Given the description of an element on the screen output the (x, y) to click on. 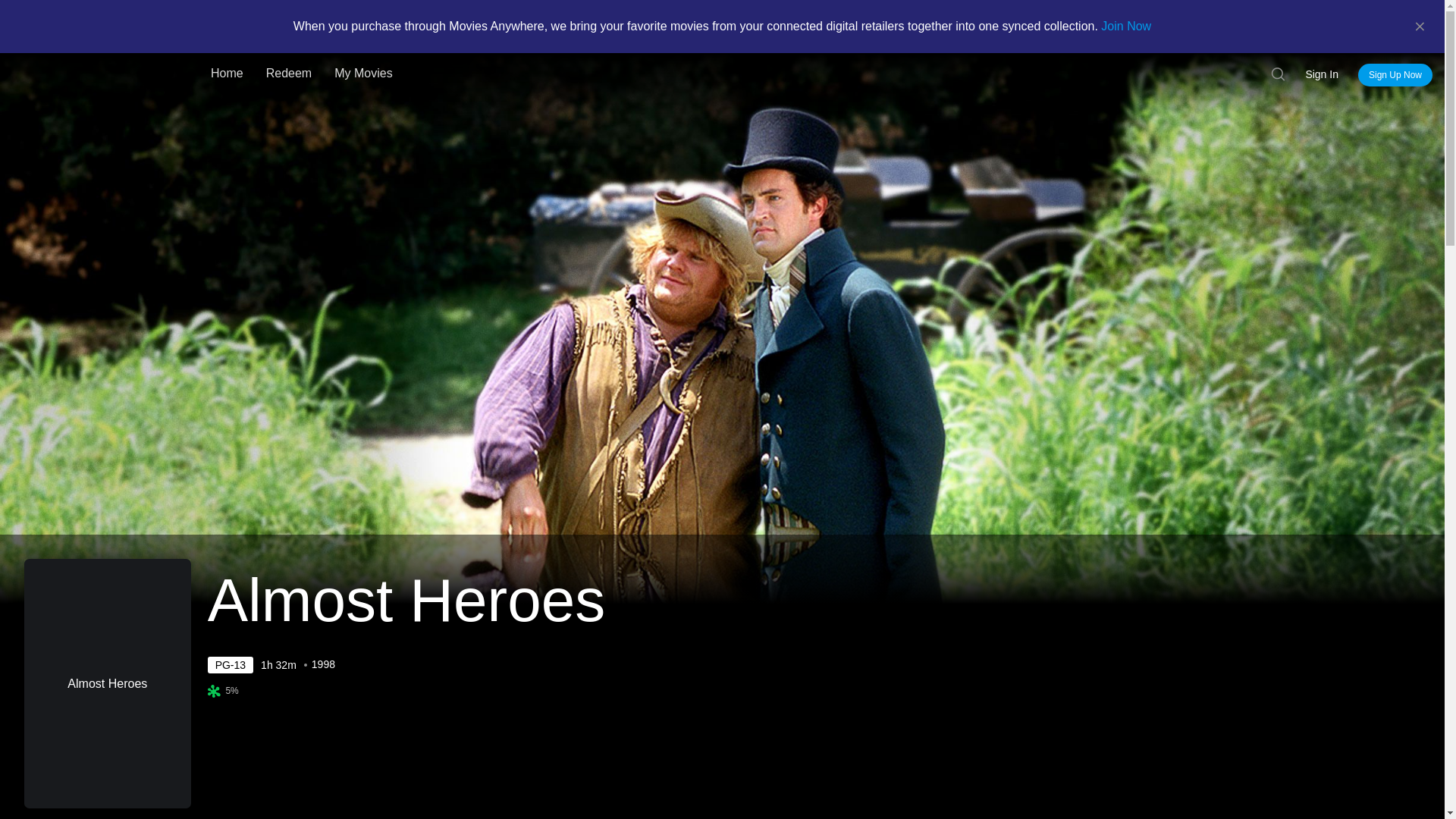
Sign In (1321, 73)
My Movies (363, 74)
Home (226, 74)
Sign Up Now (1395, 74)
Join Now (1125, 25)
Redeem (288, 74)
